Given the description of an element on the screen output the (x, y) to click on. 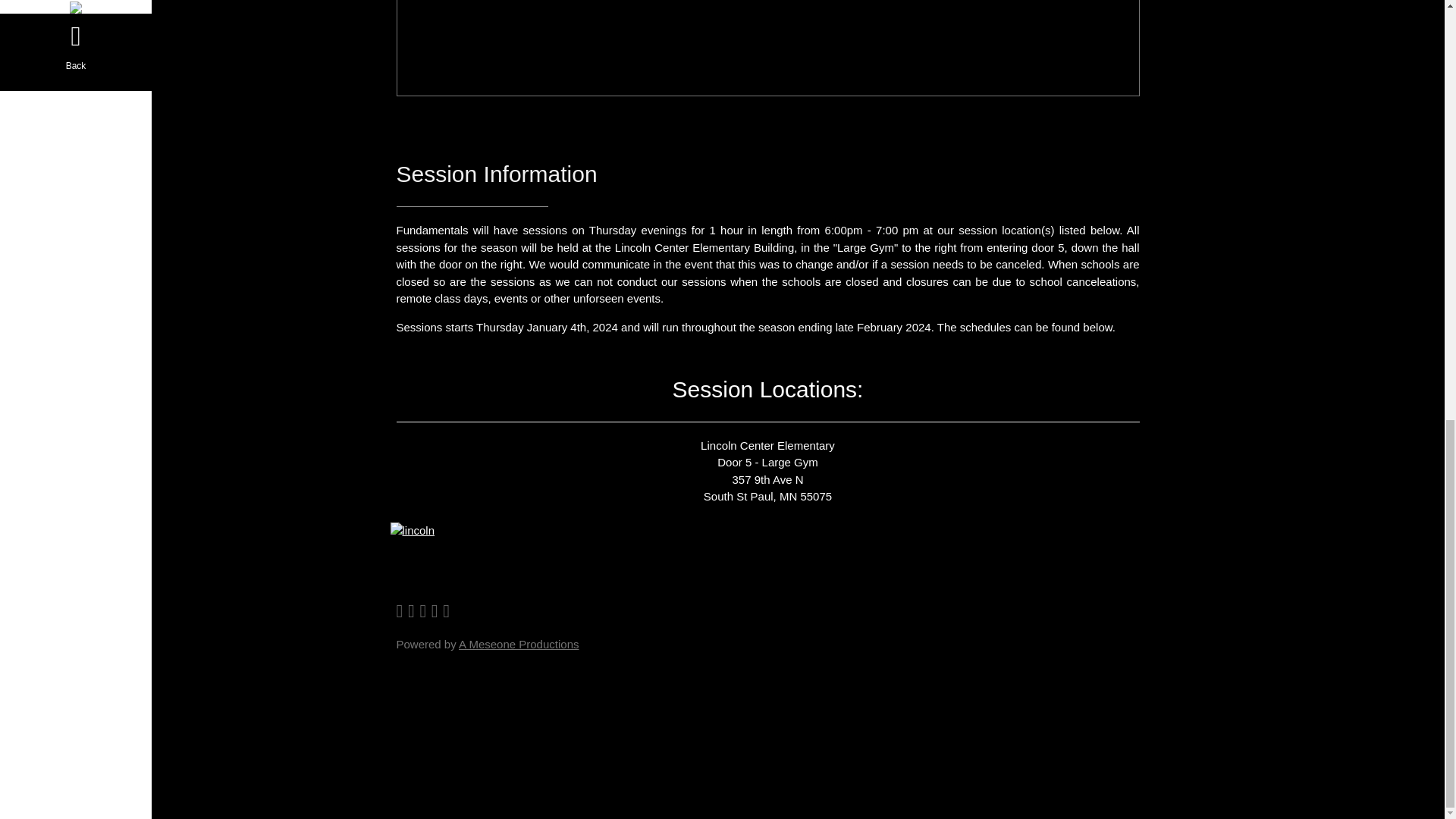
A Meseone Productions (518, 644)
